Given the description of an element on the screen output the (x, y) to click on. 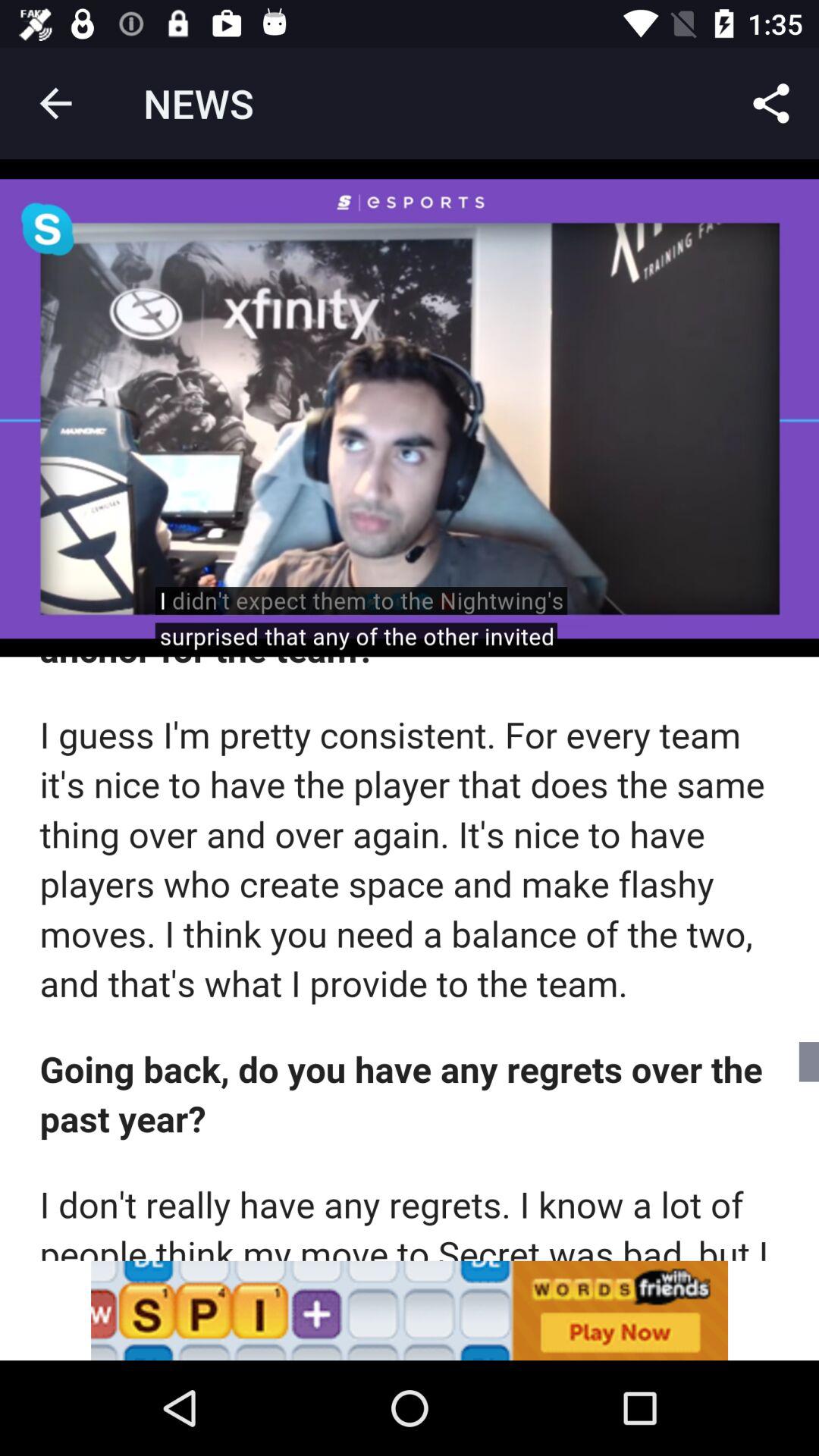
news share go to previous (409, 1310)
